Given the description of an element on the screen output the (x, y) to click on. 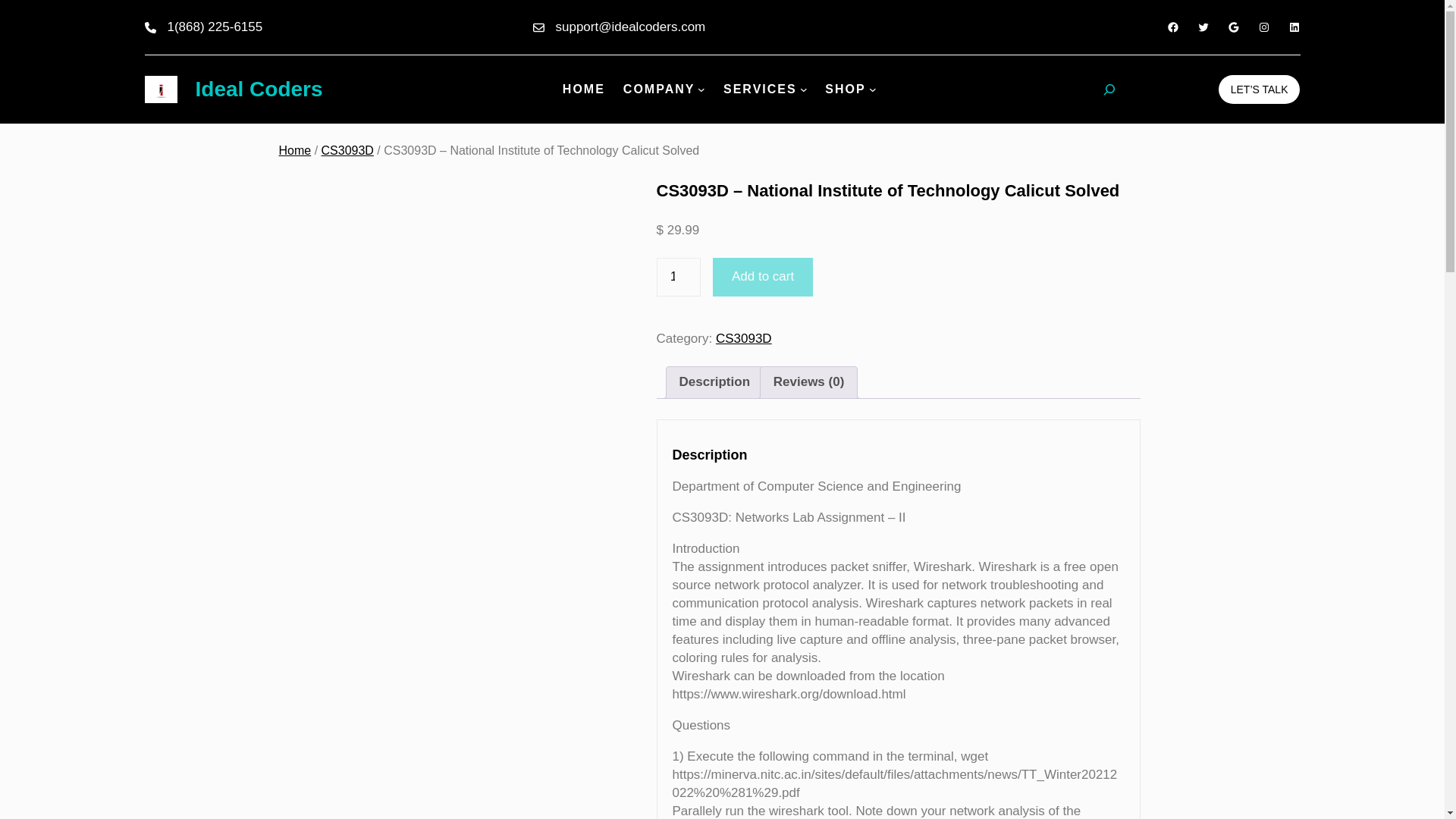
Facebook (1171, 27)
Description (715, 382)
Home (295, 150)
Instagram (1263, 27)
Google (1233, 27)
SERVICES (759, 89)
LinkedIn (1293, 27)
Add to cart (762, 276)
CS3093D (743, 338)
1 (678, 276)
